Given the description of an element on the screen output the (x, y) to click on. 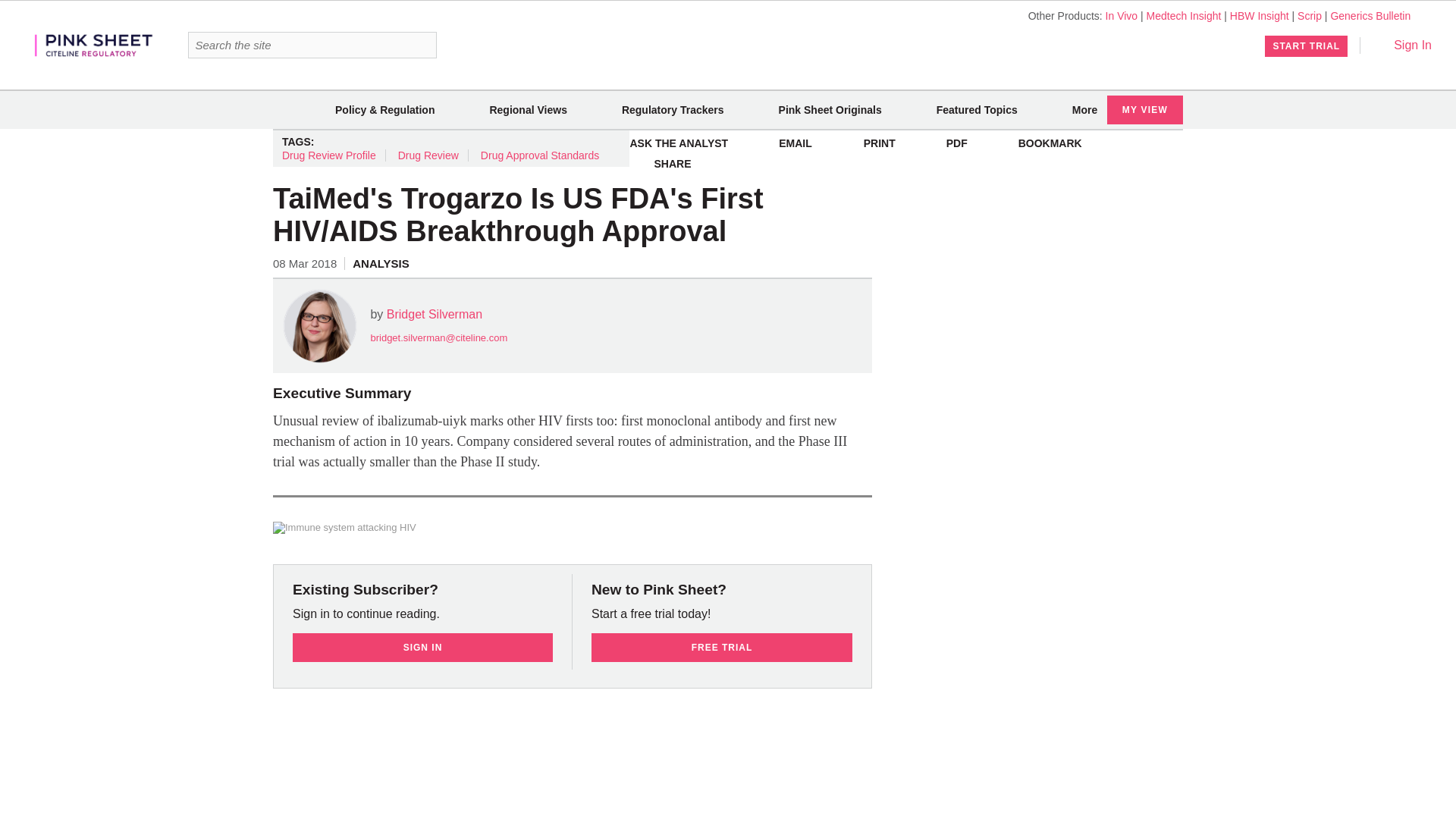
HBW Insight (1259, 15)
Scrip (1309, 15)
Sign In (1402, 44)
In Vivo (1121, 15)
Medtech Insight (1184, 15)
START TRIAL (1306, 46)
Generics Bulletin (1370, 15)
